Given the description of an element on the screen output the (x, y) to click on. 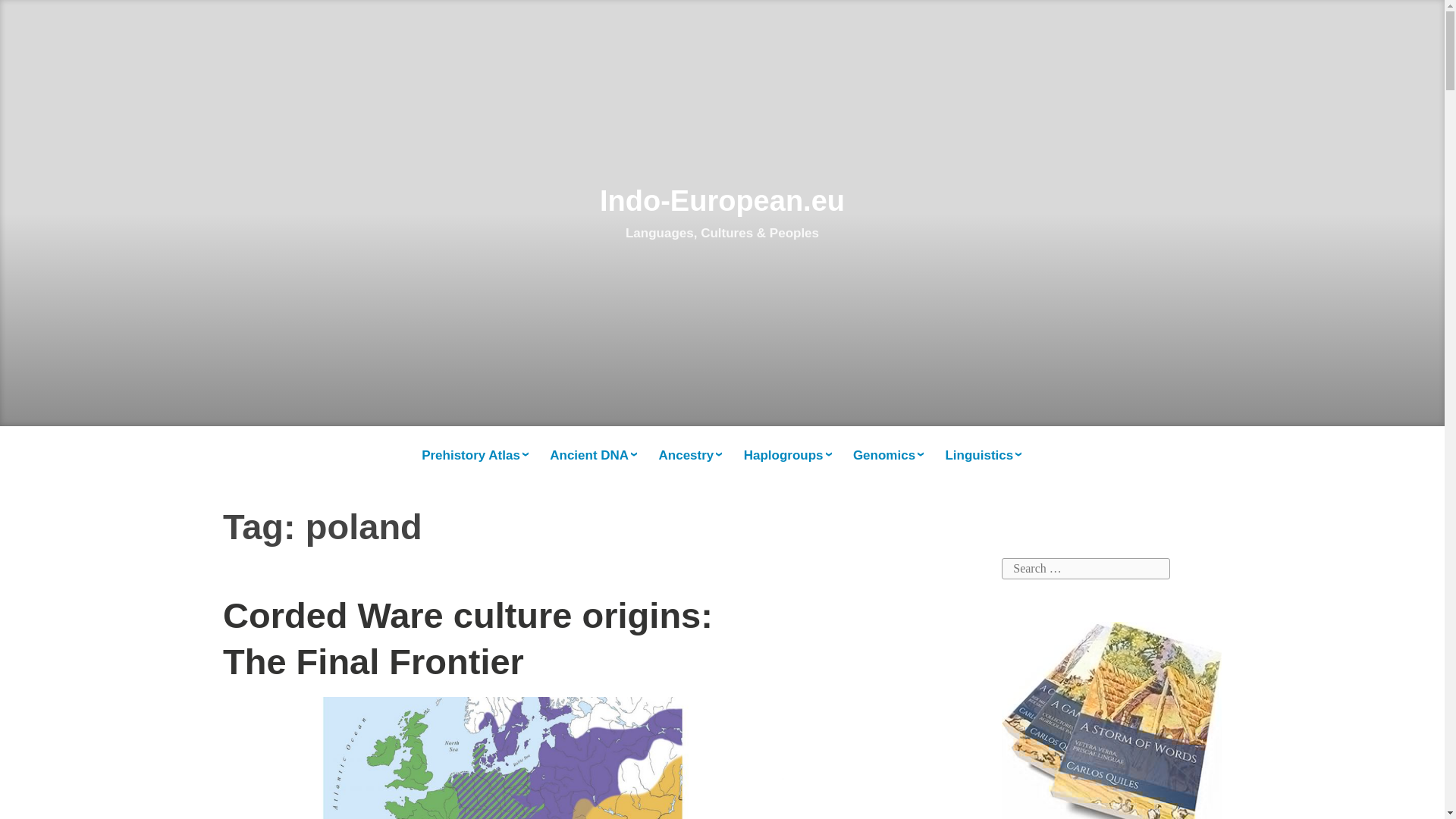
Maps of Prehistoric Indo-European Migrations (475, 455)
Indo-European.eu (721, 201)
Prehistory Atlas (475, 455)
Haplogroups (788, 455)
Ancestry (691, 455)
Ancient DNA (594, 455)
